Given the description of an element on the screen output the (x, y) to click on. 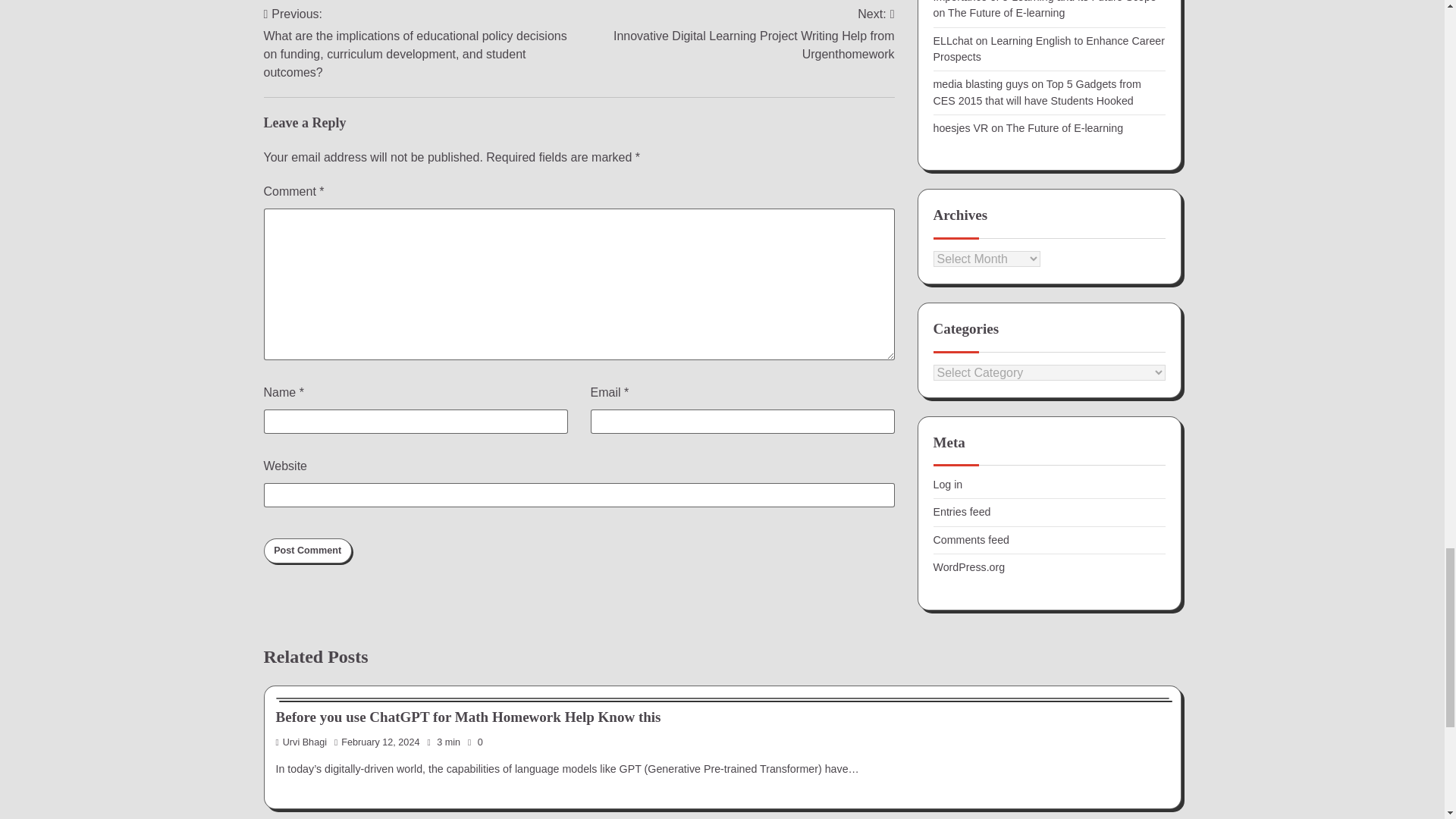
Before you use ChatGPT for Math Homework Help Know this (468, 716)
Post Comment (307, 551)
Urvi Bhagi (301, 742)
Post Comment (307, 551)
